Given the description of an element on the screen output the (x, y) to click on. 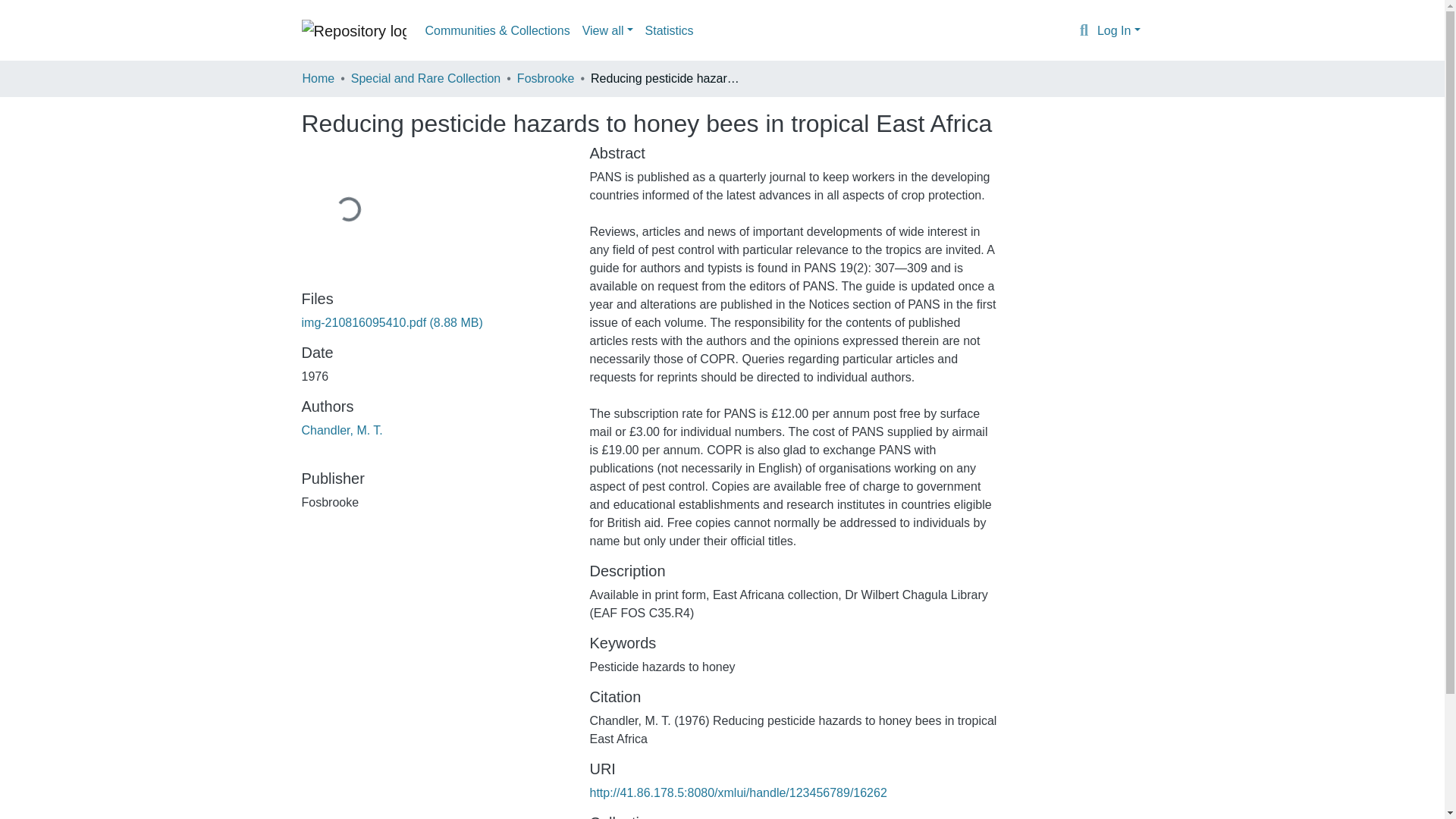
Search (1084, 30)
Log In (1118, 30)
Special and Rare Collection (425, 78)
Fosbrooke (545, 78)
Home (317, 78)
Statistics (669, 30)
View all (607, 30)
Statistics (669, 30)
Chandler, M. T. (341, 430)
